Given the description of an element on the screen output the (x, y) to click on. 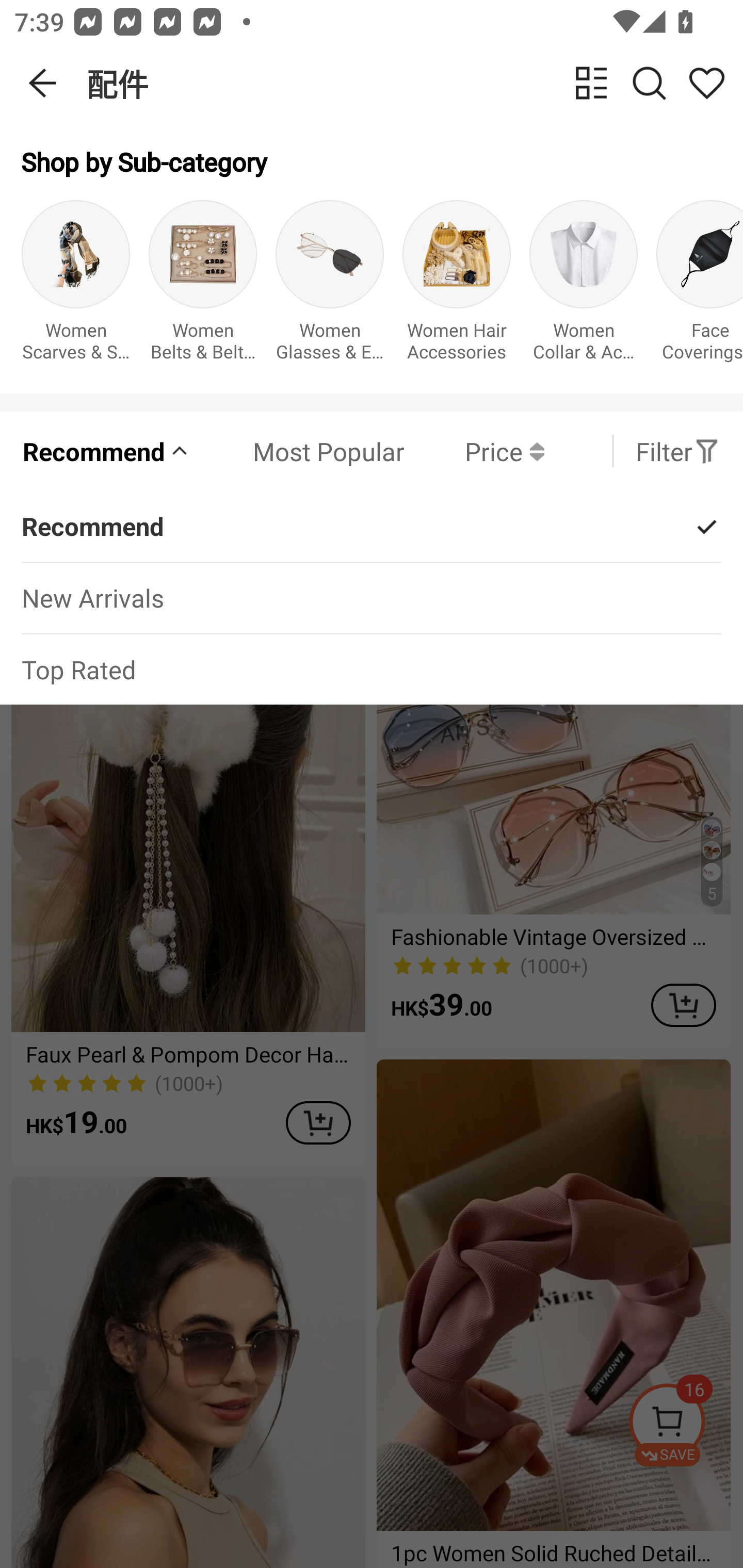
配件 change view Search Share (414, 82)
change view (591, 82)
Search (648, 82)
Share (706, 82)
Women Scarves & Scarf Accessories (75, 285)
Women Belts & Belts Accessories (202, 285)
Women Glasses & Eyewear Accessories (329, 285)
Women Hair Accessories (456, 285)
Women Collar & Accessories (583, 285)
Face Coverings & Accs (699, 285)
Recommend (106, 450)
Most Popular (297, 450)
Price (474, 450)
Filter (677, 450)
